Given the description of an element on the screen output the (x, y) to click on. 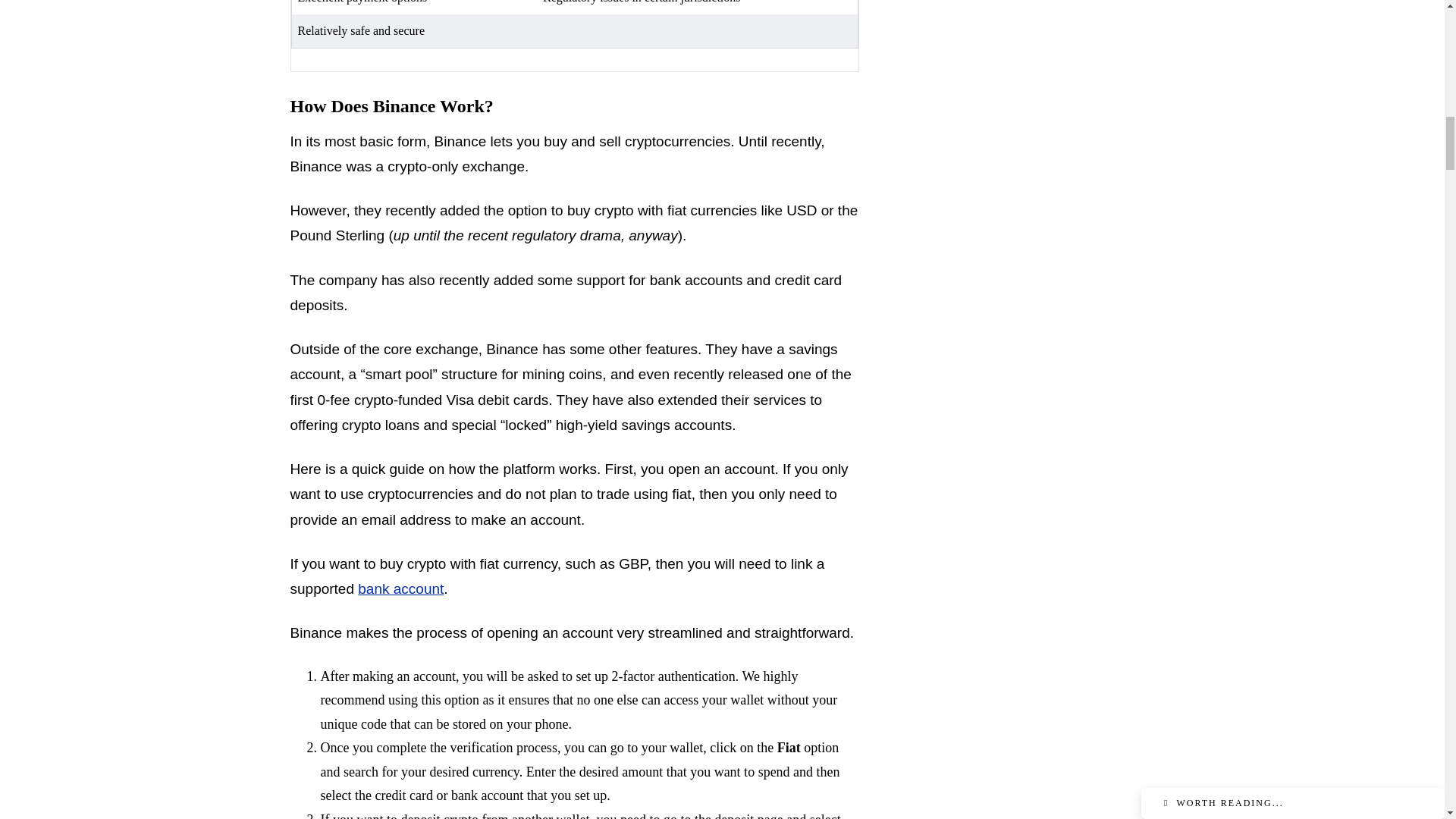
bank account (401, 588)
